Given the description of an element on the screen output the (x, y) to click on. 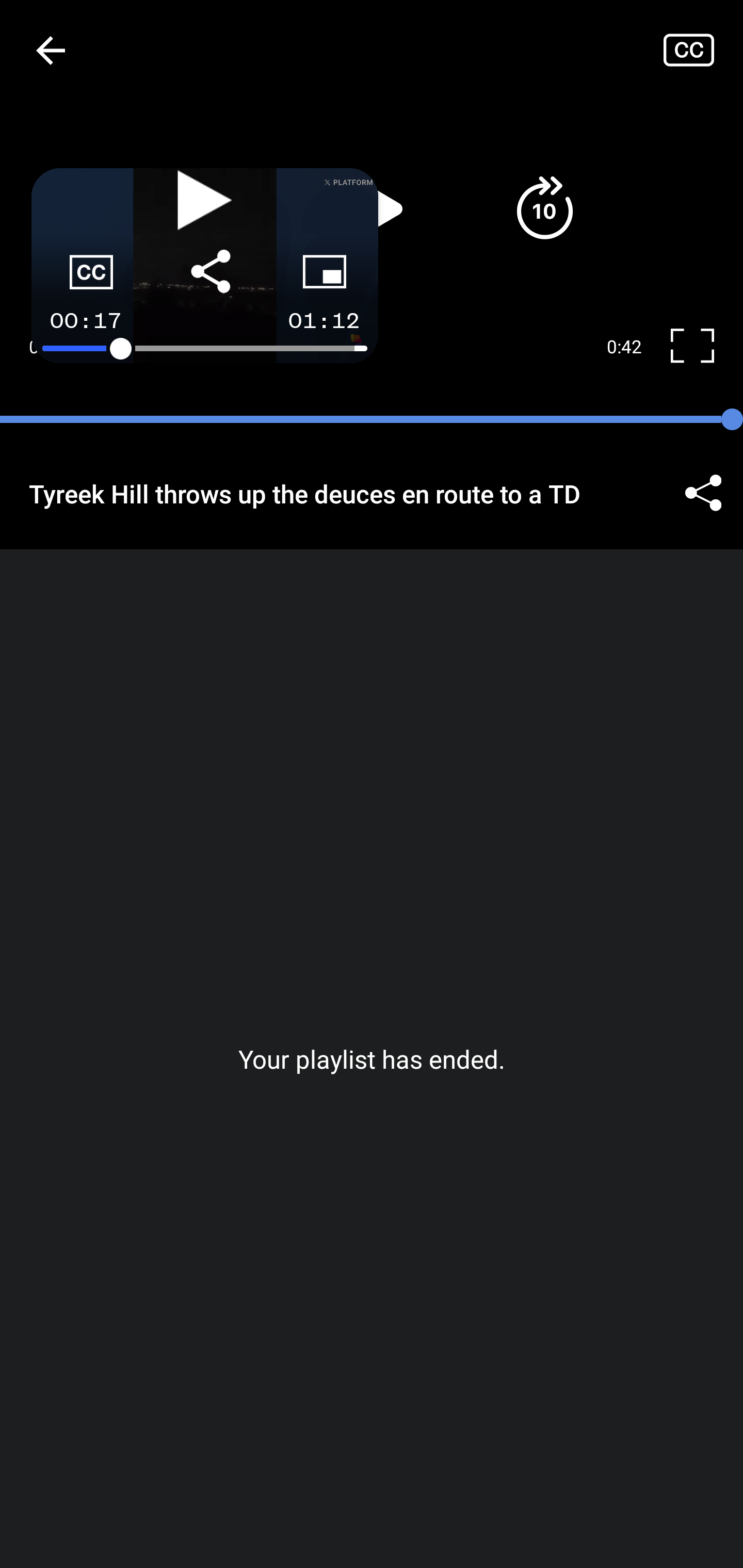
Navigate up (50, 50)
Closed captions  (703, 49)
Rewind 10 seconds  (197, 208)
Fast forward 10 seconds  (544, 208)
Fullscreen  (699, 346)
Share © (703, 493)
